Given the description of an element on the screen output the (x, y) to click on. 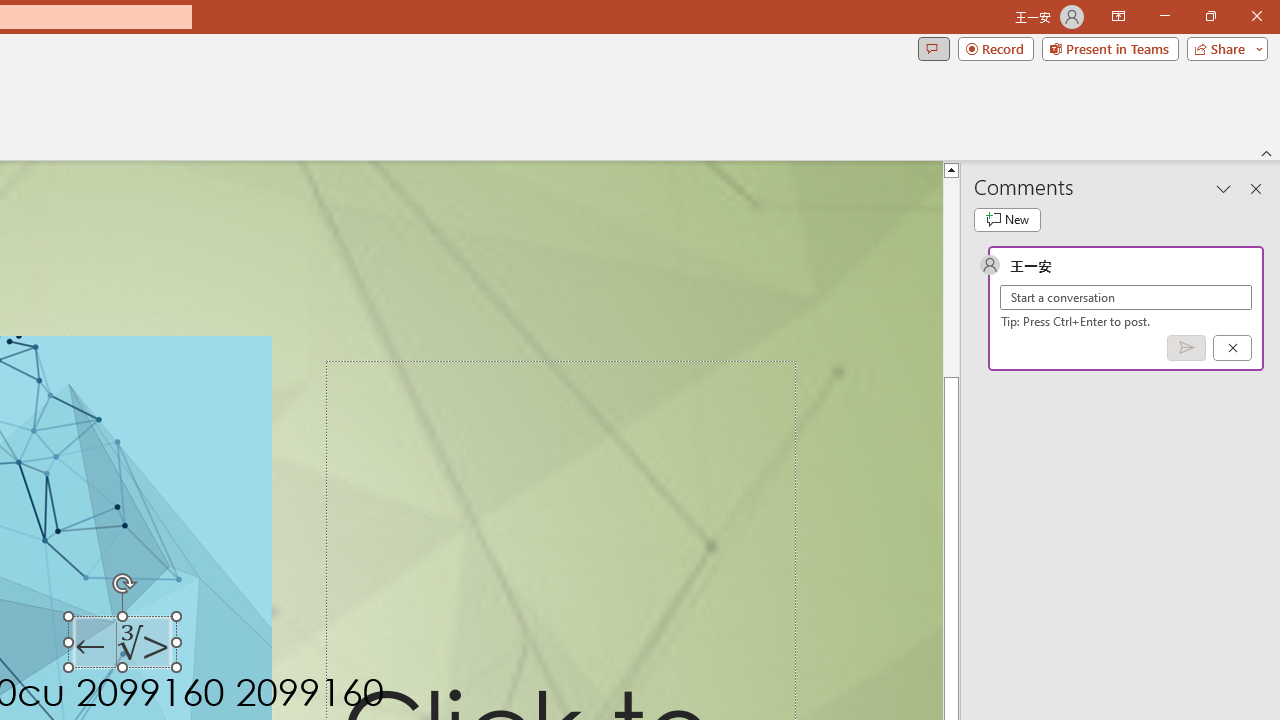
TextBox 7 (123, 645)
Cancel (1232, 347)
